Given the description of an element on the screen output the (x, y) to click on. 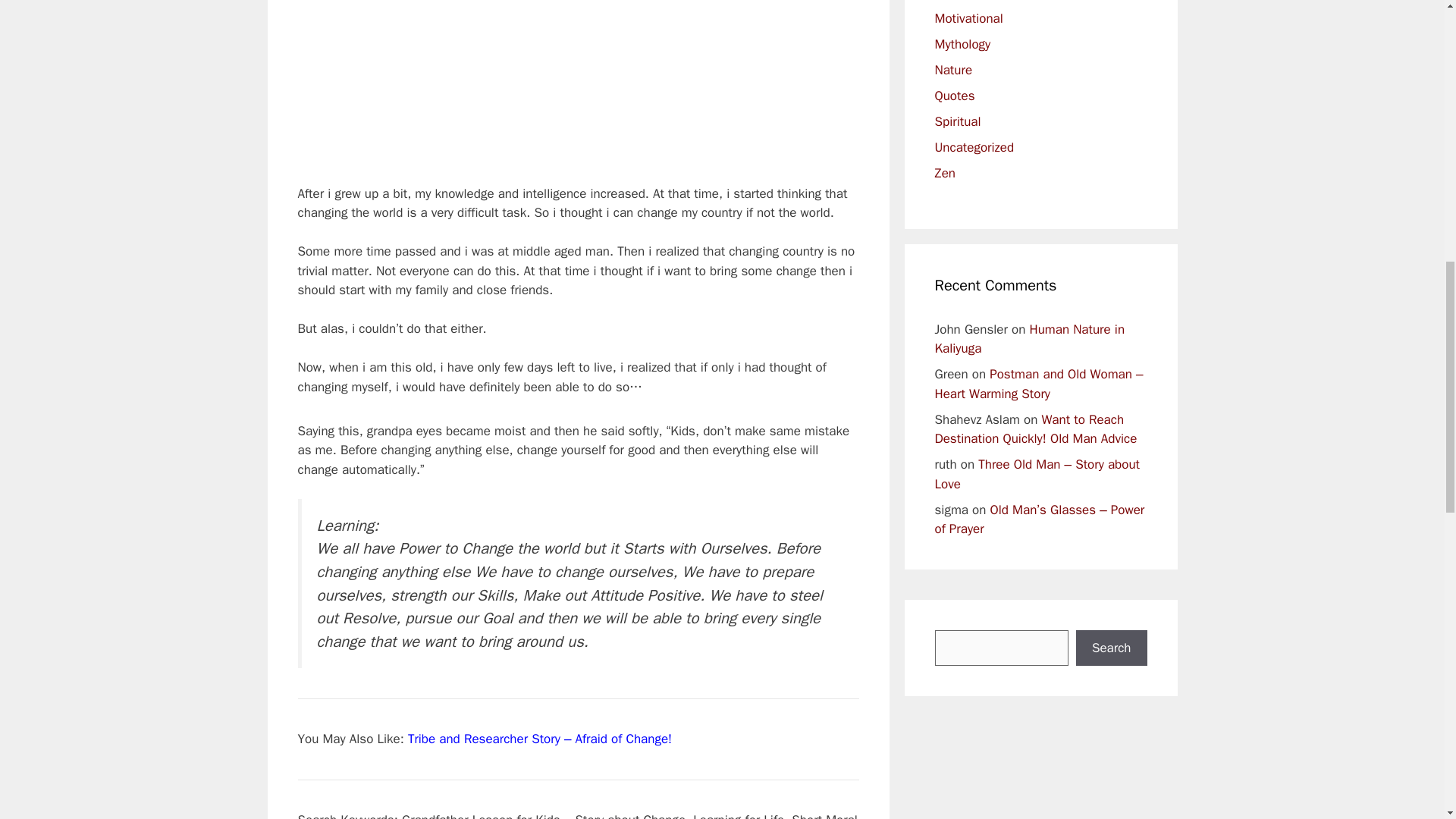
Mythology (962, 44)
Management (970, 0)
Advertisement (578, 92)
Scroll back to top (1406, 720)
Motivational (968, 18)
